Given the description of an element on the screen output the (x, y) to click on. 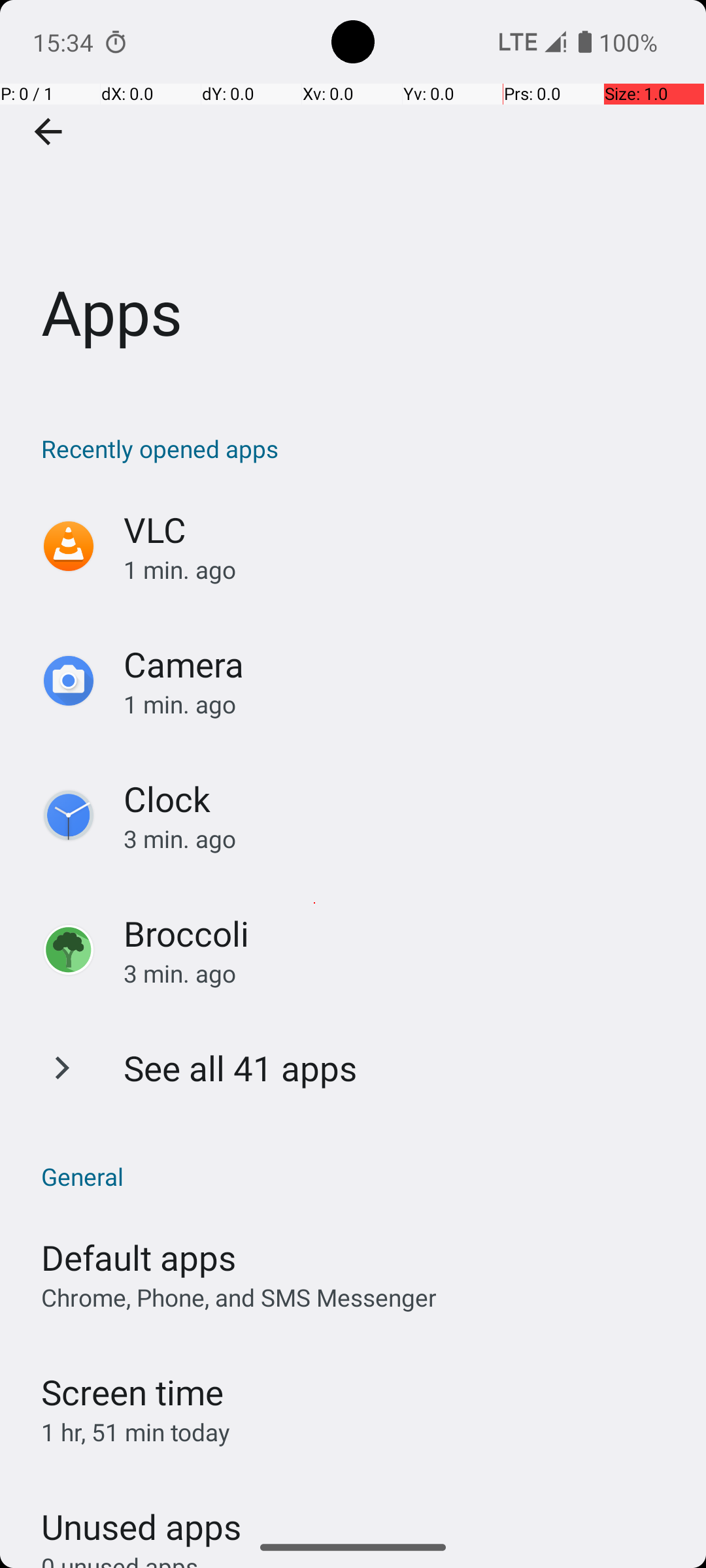
1 min. ago Element type: android.widget.TextView (400, 569)
3 min. ago Element type: android.widget.TextView (400, 838)
1 hr, 51 min today Element type: android.widget.TextView (135, 1431)
